Given the description of an element on the screen output the (x, y) to click on. 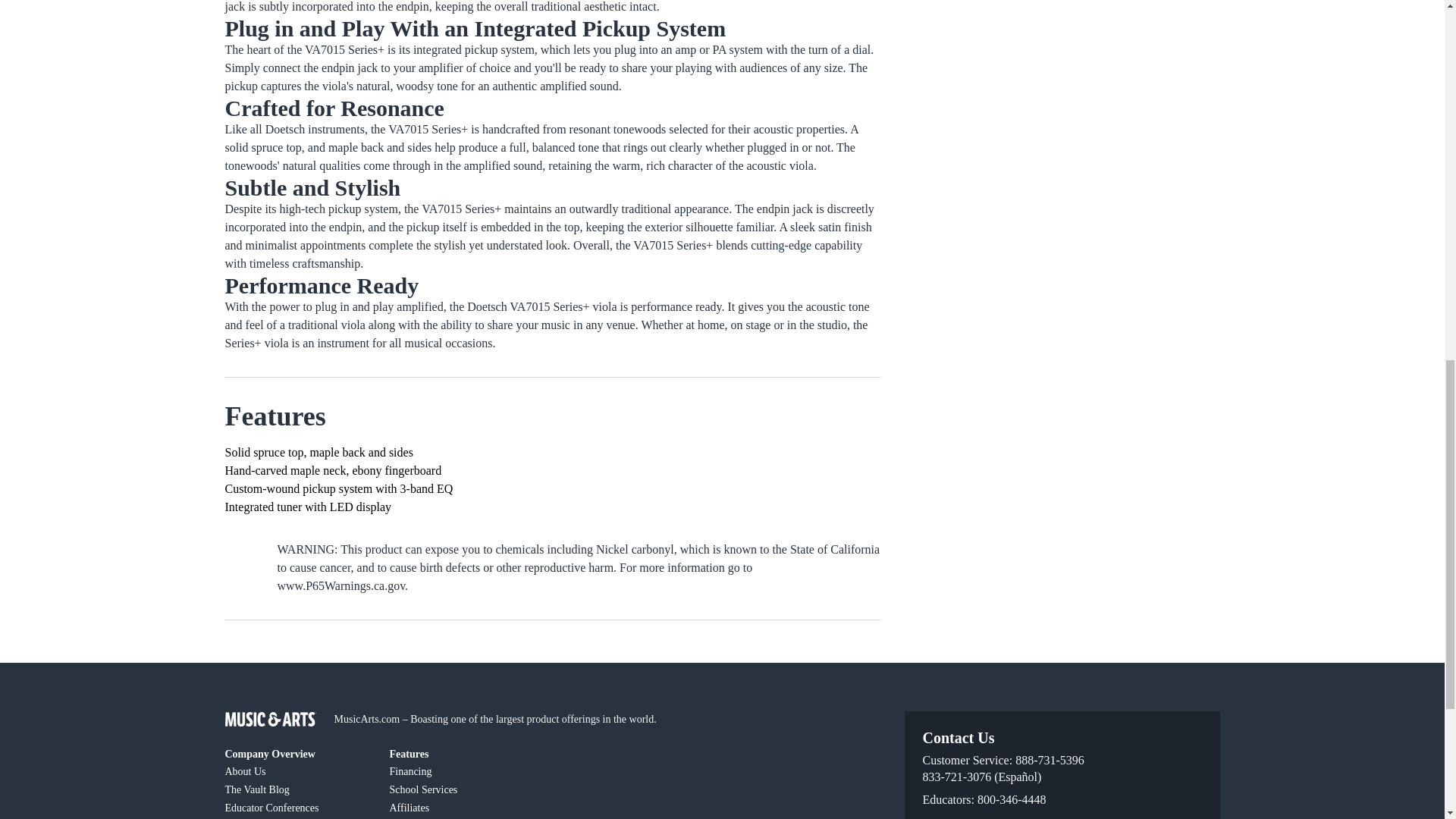
Educator Conferences (297, 807)
Financing (462, 771)
Affiliates (462, 807)
About Us (297, 771)
The Vault Blog (297, 789)
Price Match (462, 817)
School Services (462, 789)
Find a Store (297, 817)
